Given the description of an element on the screen output the (x, y) to click on. 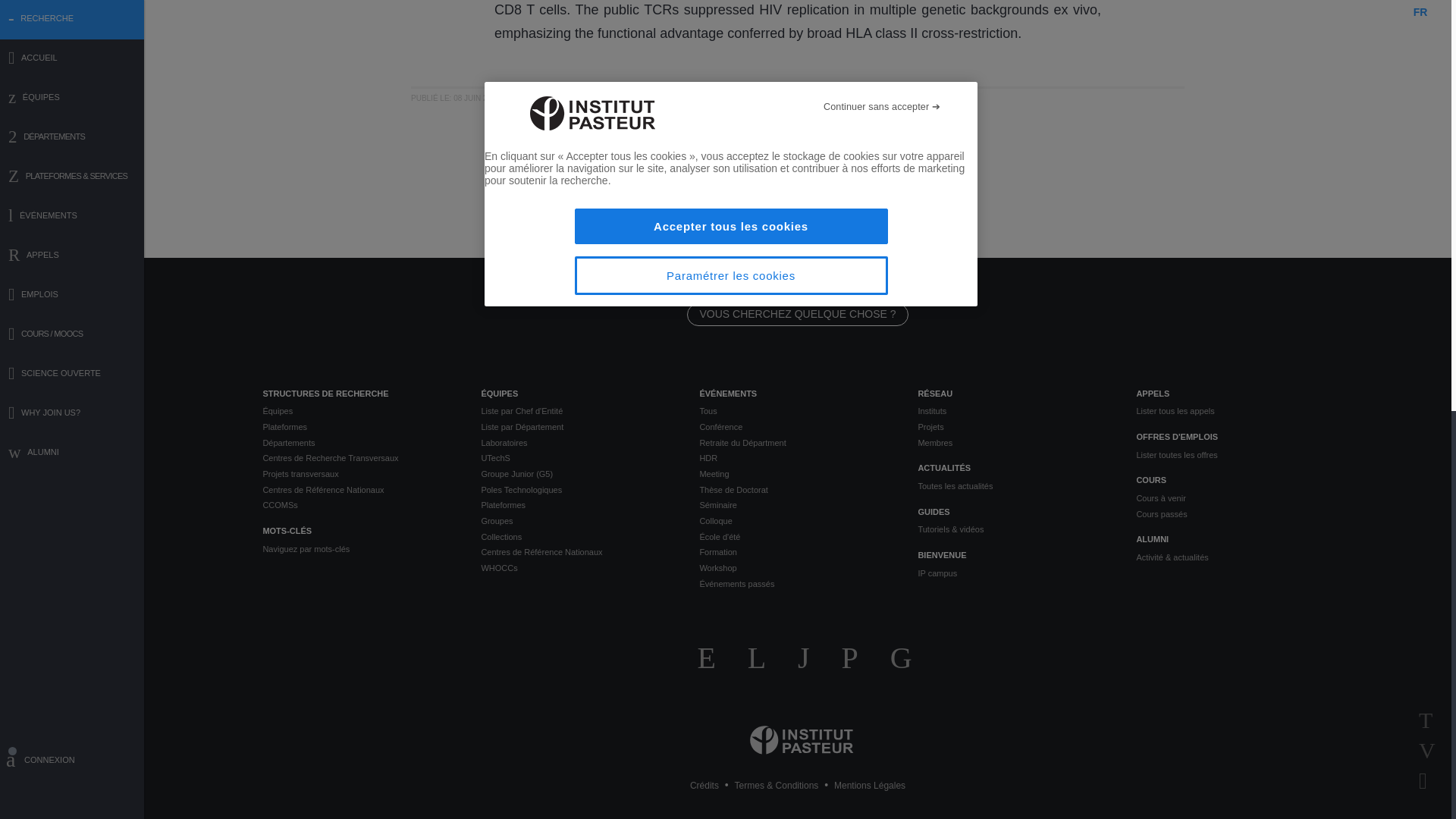
Plateformes (360, 427)
